Given the description of an element on the screen output the (x, y) to click on. 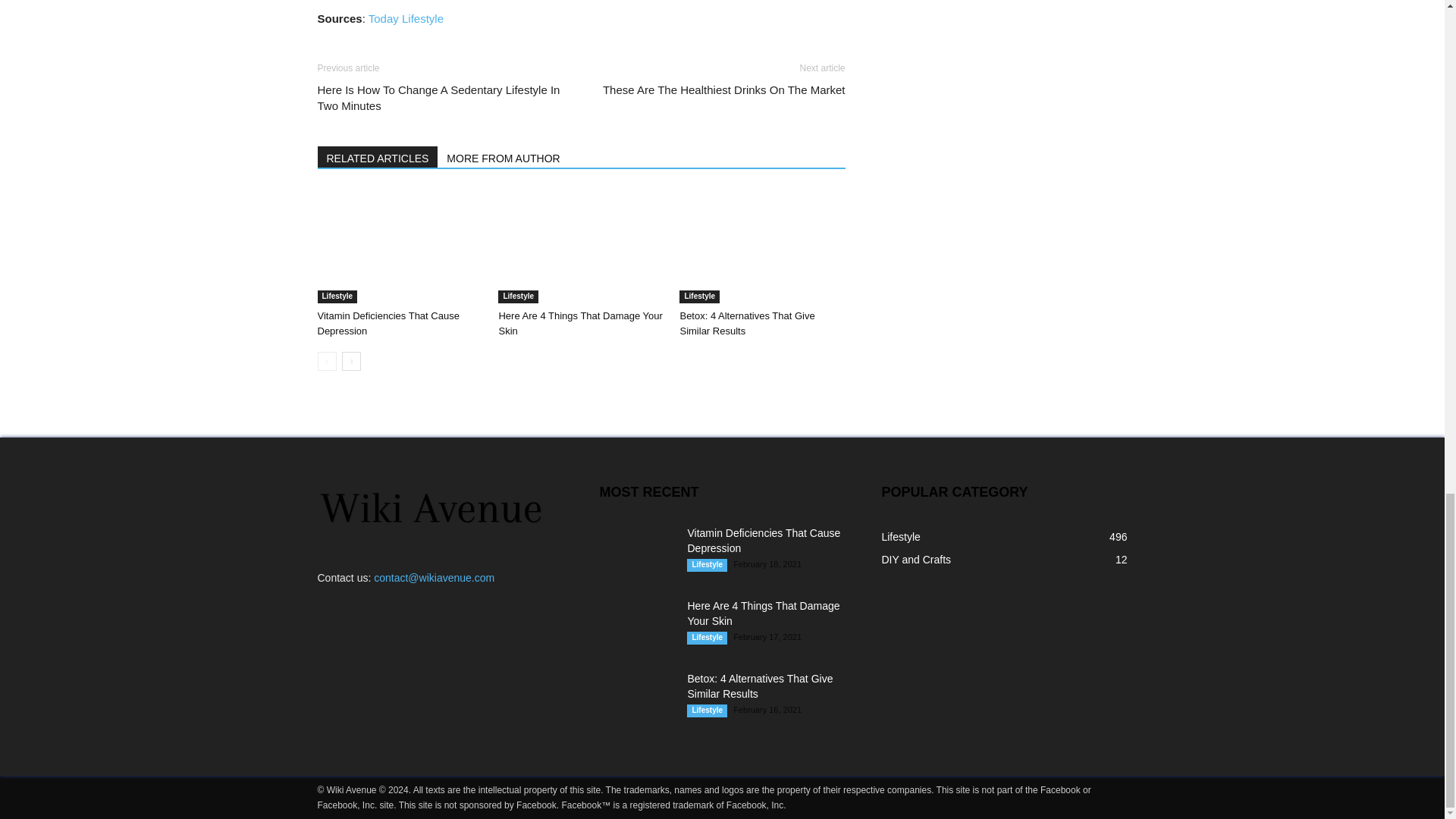
Here Is How To Change A Sedentary Lifestyle In Two Minutes (439, 97)
Vitamin Deficiencies That Cause Depression (387, 323)
Here Are 4 Things That Damage Your Skin (579, 323)
Vitamin Deficiencies That Cause Depression (399, 246)
Today Lifestyle (406, 18)
MORE FROM AUTHOR (503, 156)
These Are The Healthiest Drinks On The Market (723, 89)
Here Are 4 Things That Damage Your Skin (580, 246)
Betox: 4 Alternatives That Give Similar Results (746, 323)
Lifestyle (517, 296)
Lifestyle (699, 296)
Betox: 4 Alternatives That Give Similar Results (761, 246)
Lifestyle (336, 296)
RELATED ARTICLES (377, 156)
Here Are 4 Things That Damage Your Skin (579, 323)
